Given the description of an element on the screen output the (x, y) to click on. 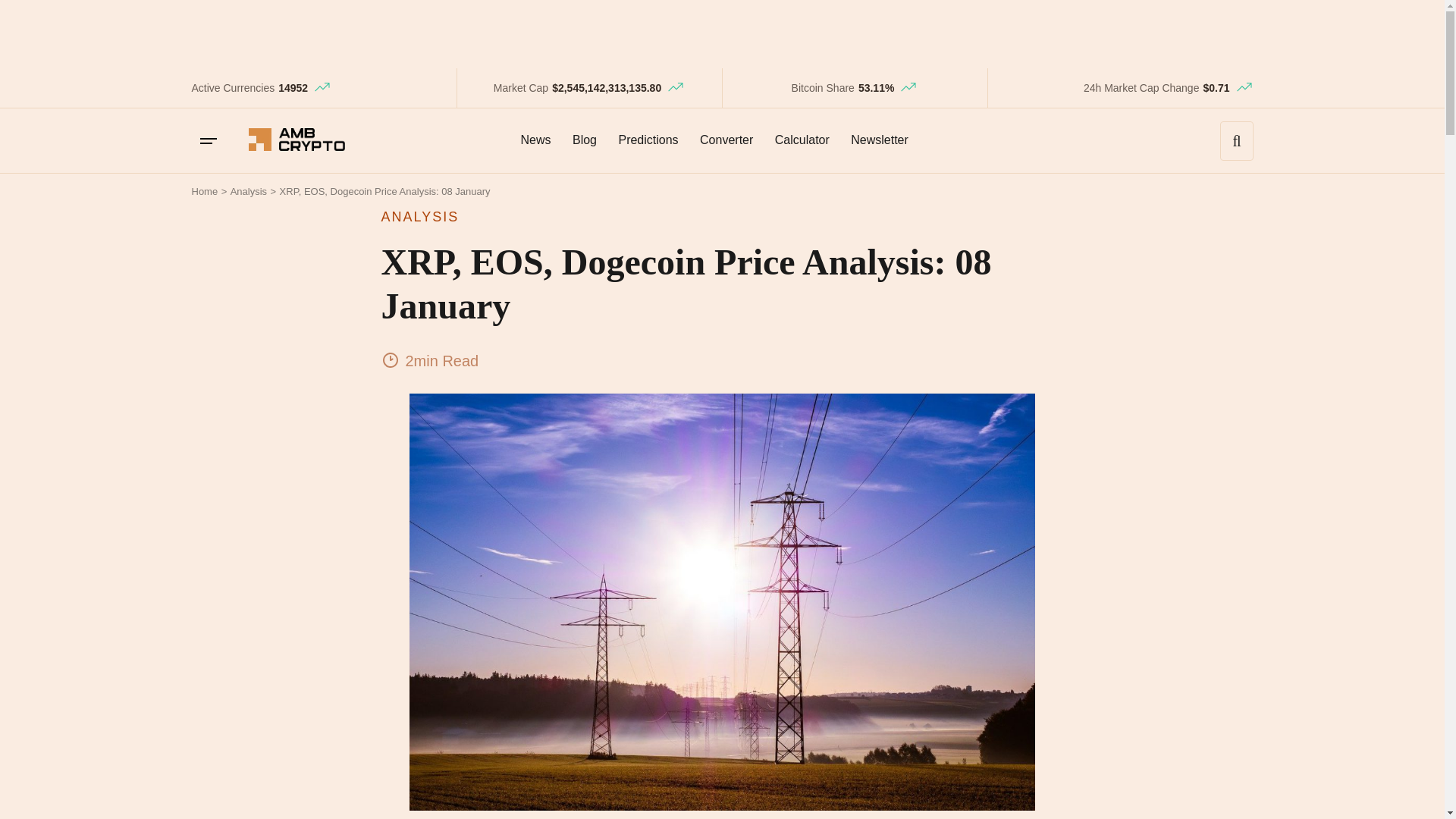
Analysis (248, 191)
Predictions (647, 139)
Home (203, 191)
Newsletter (879, 139)
ANALYSIS (721, 216)
News (535, 139)
Calculator (801, 139)
Converter (725, 139)
Analysis (248, 191)
Home (203, 191)
Blog (584, 139)
